Given the description of an element on the screen output the (x, y) to click on. 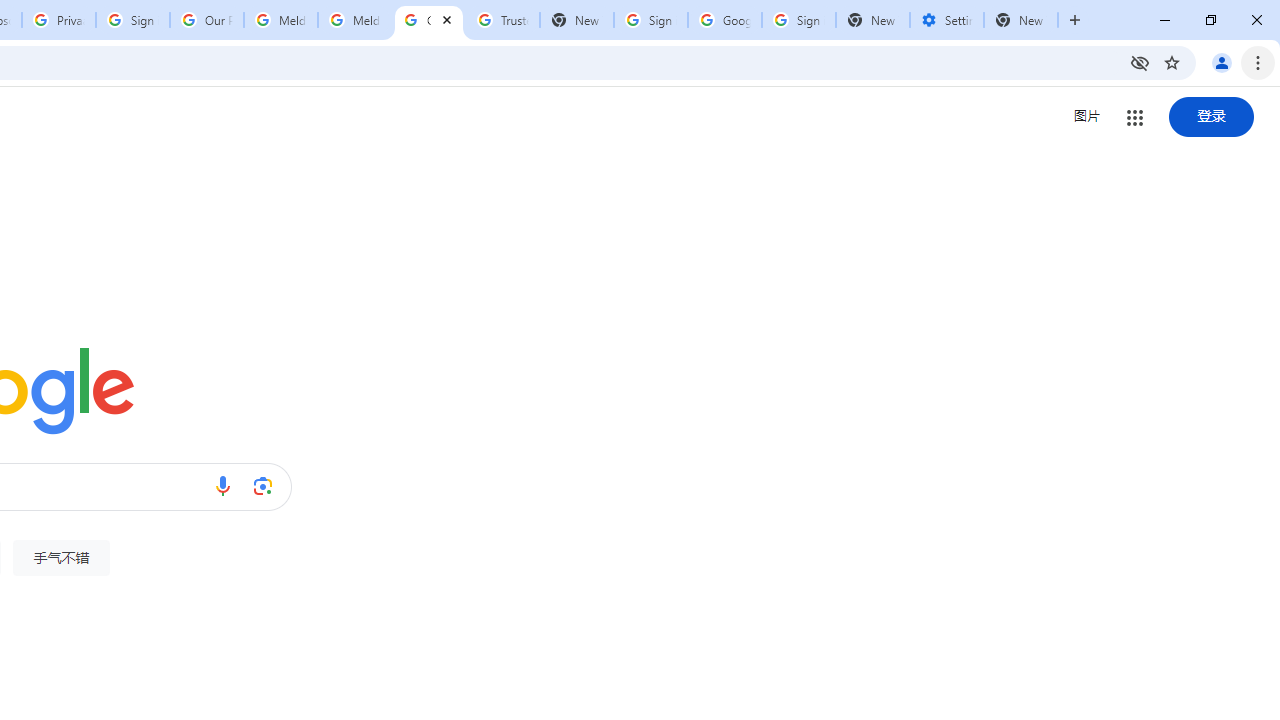
New Tab (872, 20)
Sign in - Google Accounts (651, 20)
Google Cybersecurity Innovations - Google Safety Center (724, 20)
New Tab (1021, 20)
Google (428, 20)
